Given the description of an element on the screen output the (x, y) to click on. 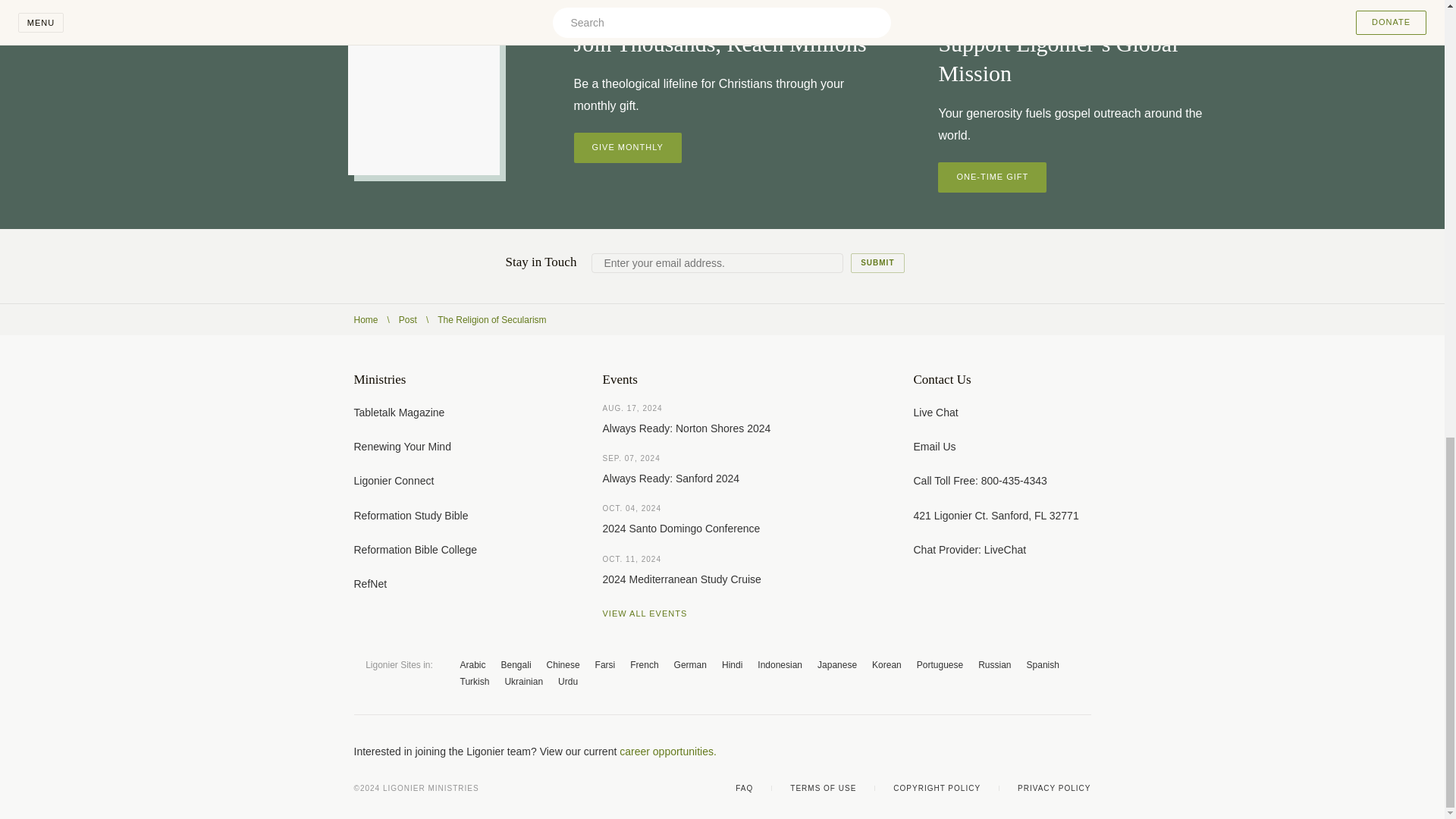
Facebook (962, 751)
X (993, 751)
YouTube (1023, 751)
Linkedin (1083, 751)
Instagram (1053, 751)
